Given the description of an element on the screen output the (x, y) to click on. 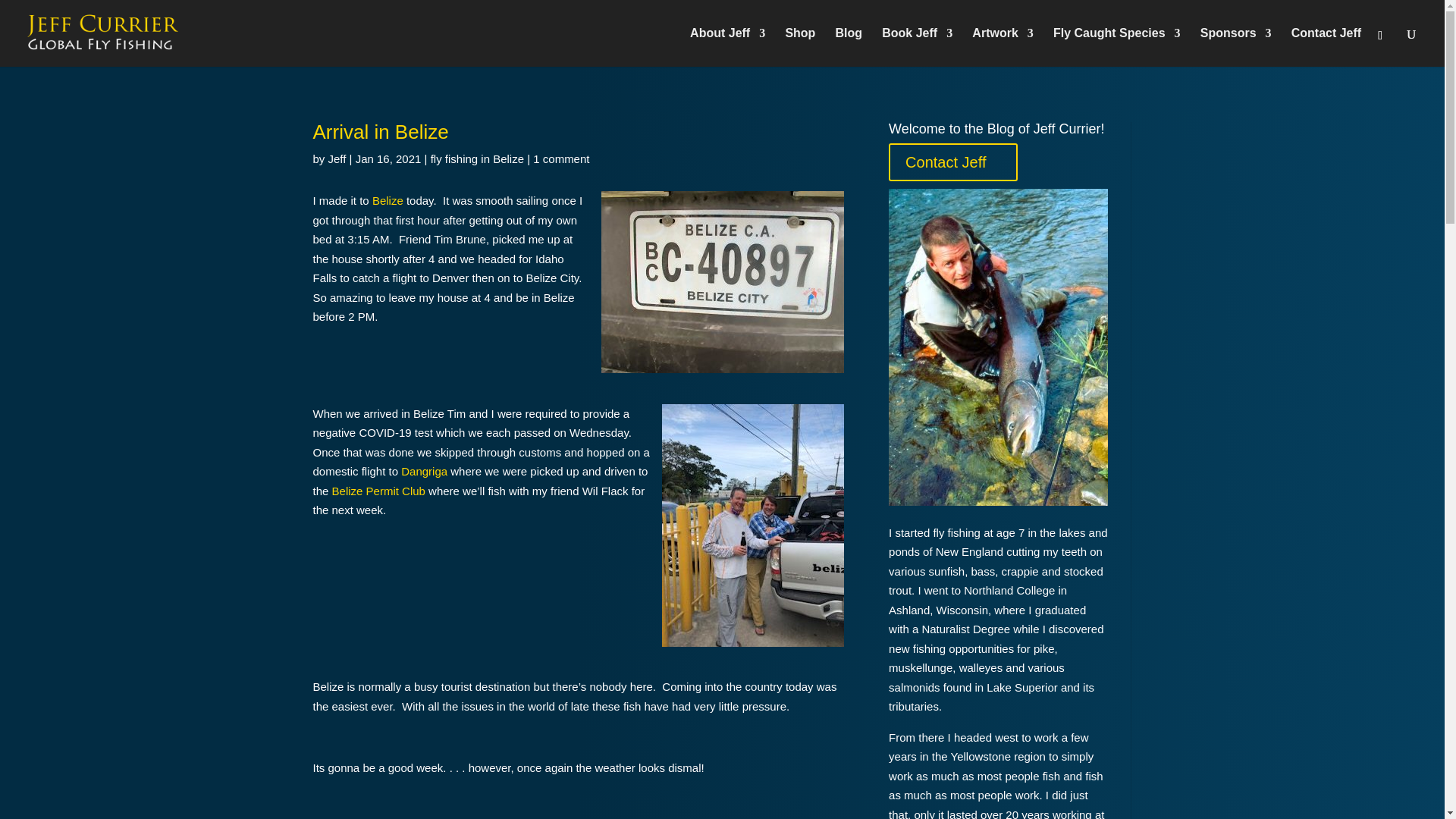
Book Jeff (917, 46)
About Jeff (727, 46)
Posts by Jeff (337, 158)
Artwork (1002, 46)
